Given the description of an element on the screen output the (x, y) to click on. 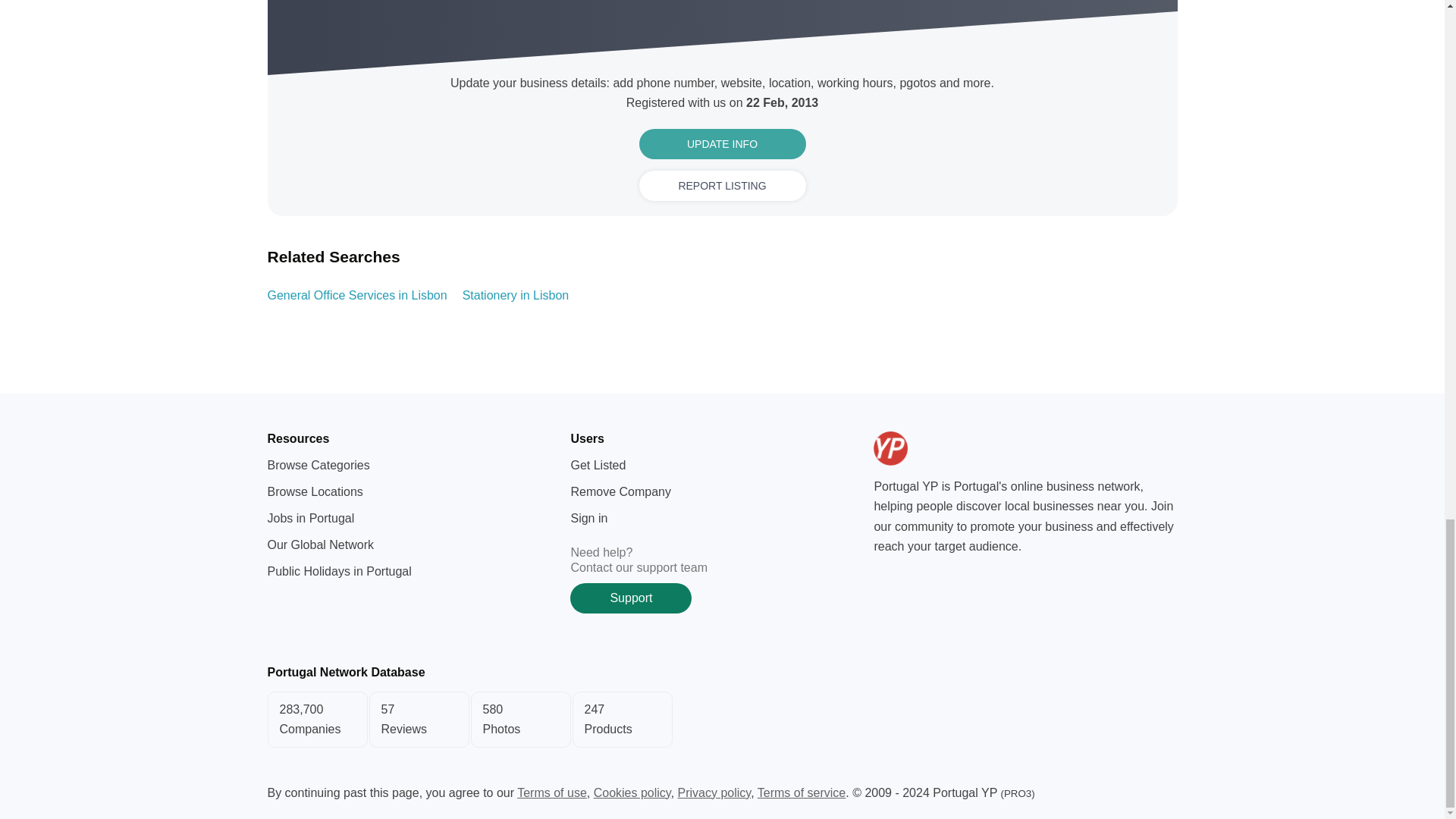
Portugal Business Directory - Portugal YP (926, 448)
Update Info Bic Portugal SA (721, 719)
